Given the description of an element on the screen output the (x, y) to click on. 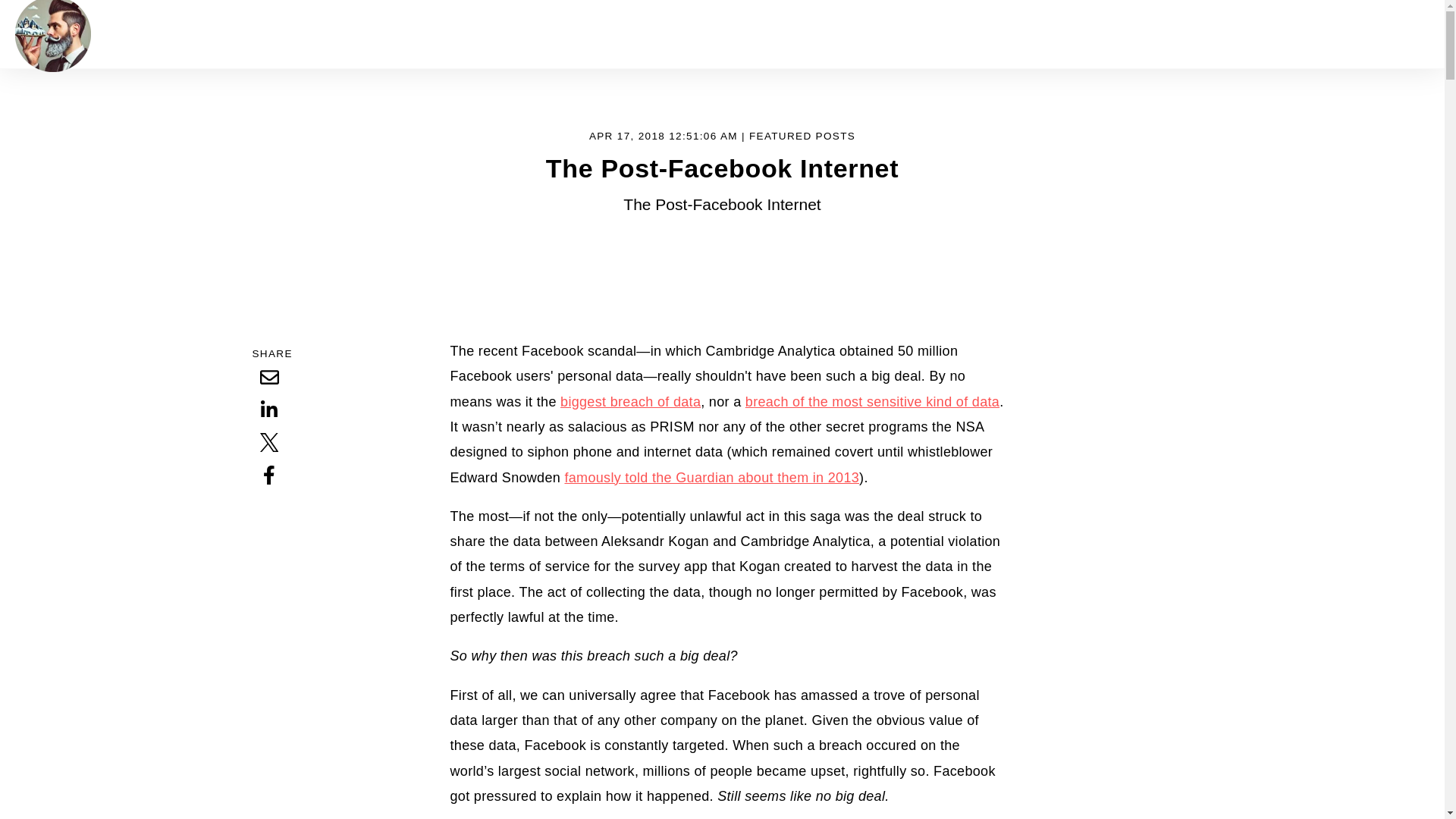
biggest breach of data (630, 401)
breach of the most sensitive kind of data (871, 401)
famously told the Guardian about them in 2013 (711, 477)
FEATURED POSTS (802, 135)
